Given the description of an element on the screen output the (x, y) to click on. 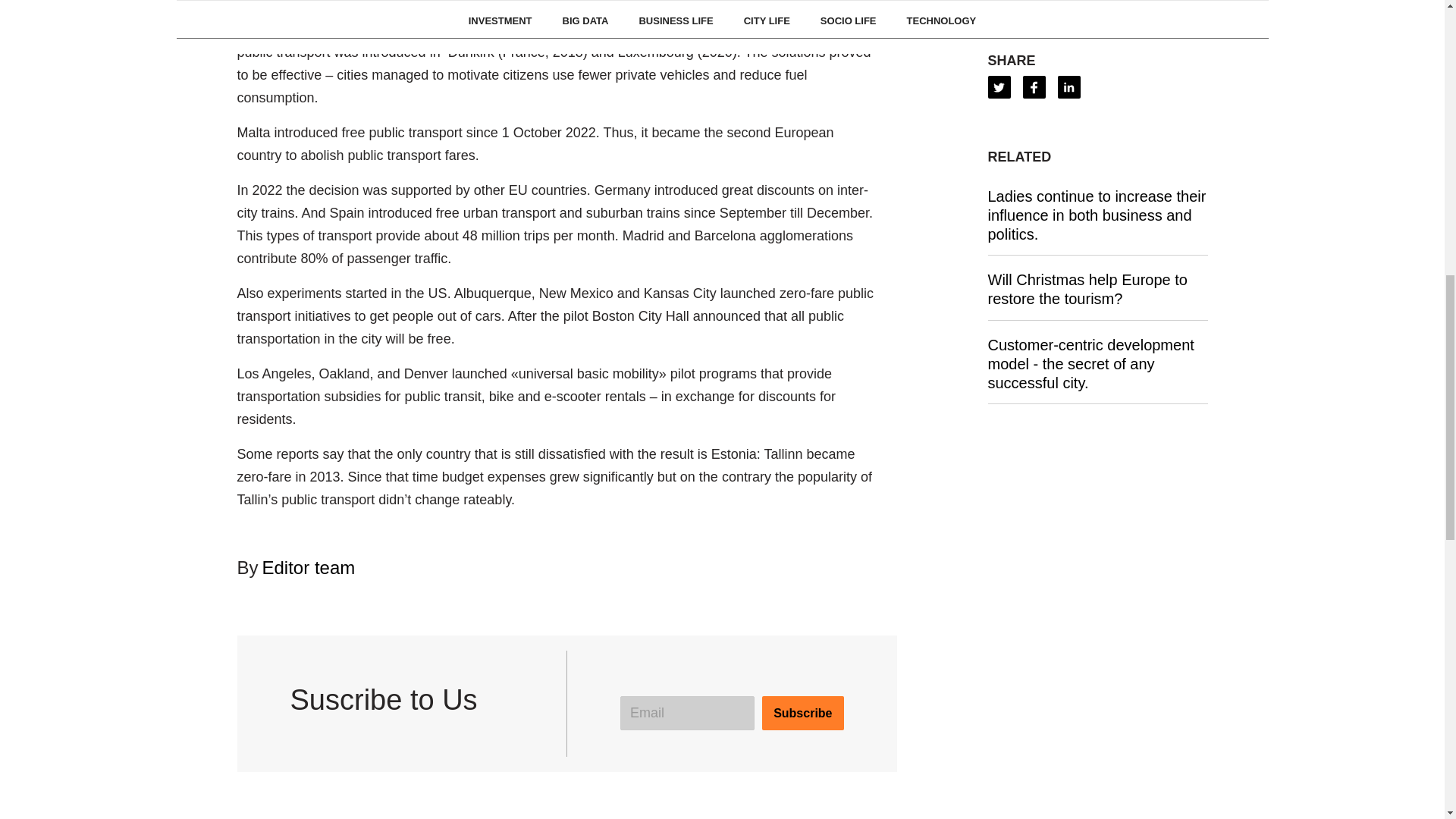
Subscribe (802, 713)
